Given the description of an element on the screen output the (x, y) to click on. 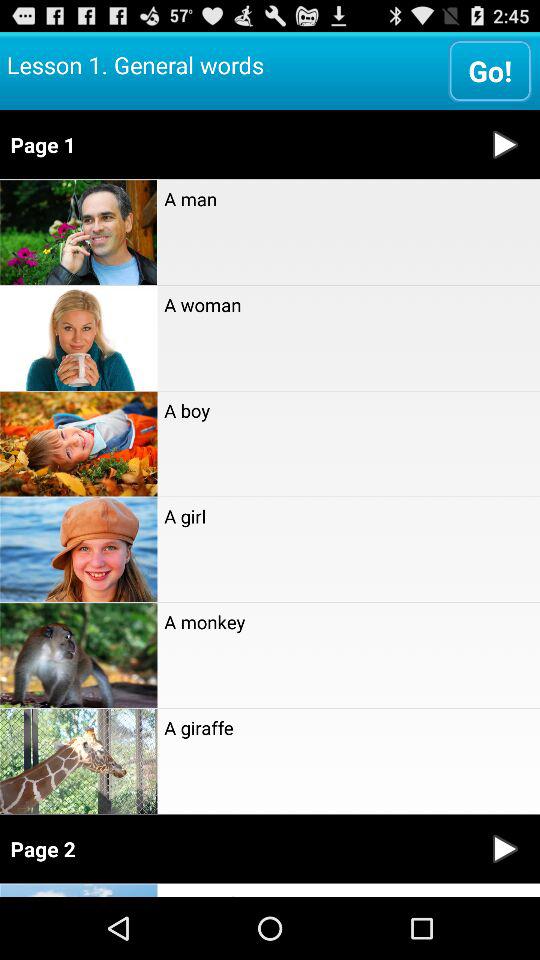
open the a woman item (348, 304)
